Given the description of an element on the screen output the (x, y) to click on. 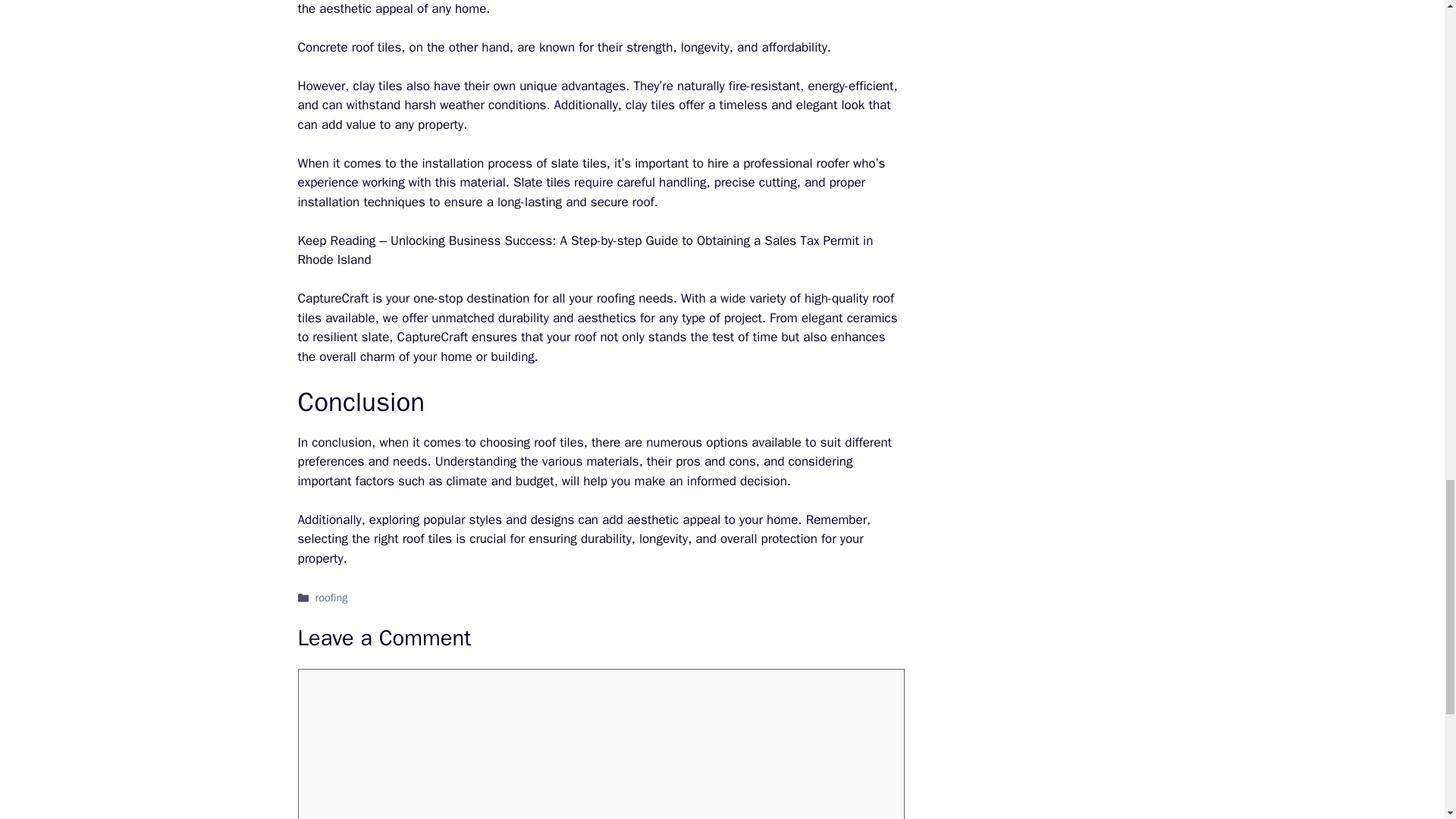
CaptureCraft (332, 298)
CaptureCraft (432, 336)
roofing (331, 597)
